Given the description of an element on the screen output the (x, y) to click on. 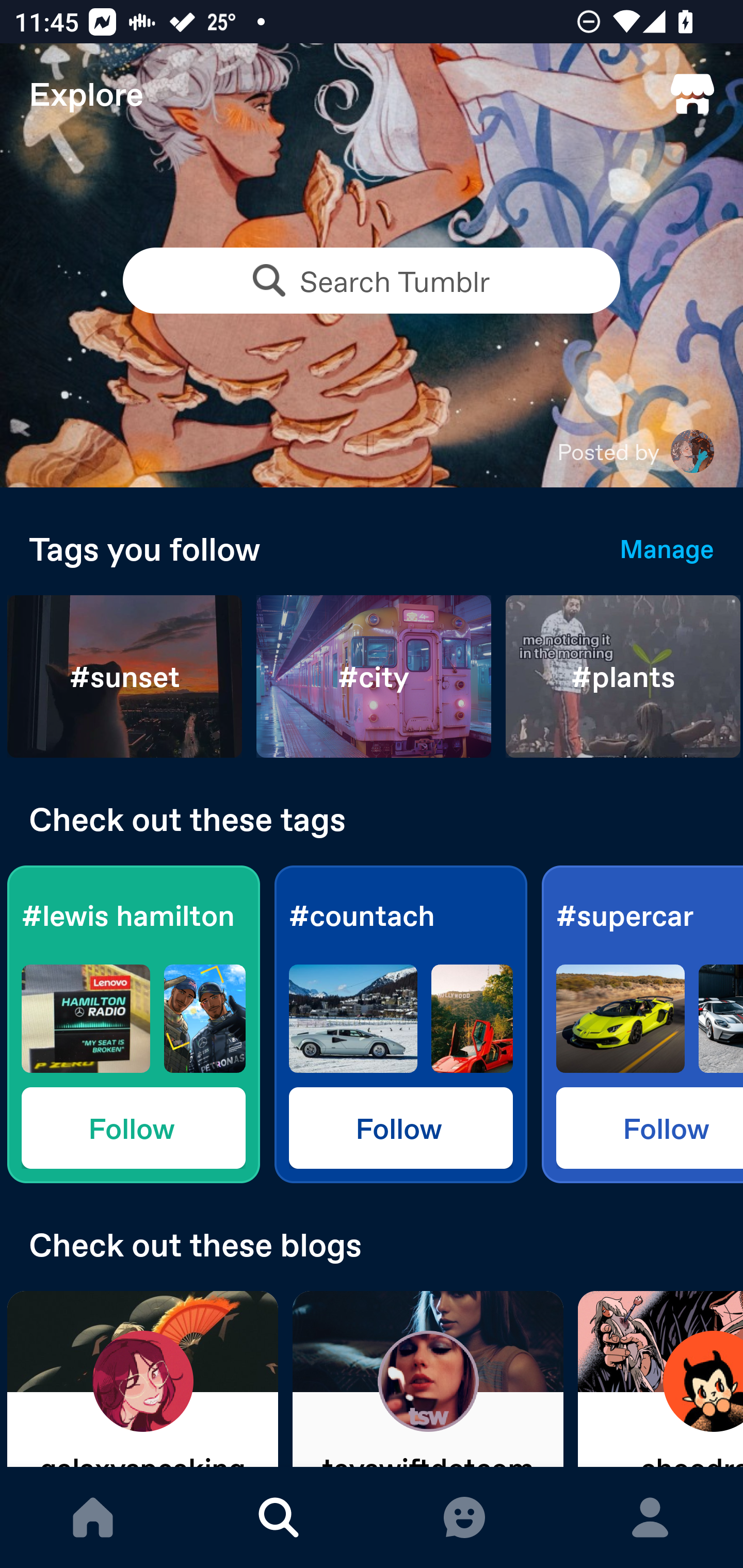
TumblrMart (692, 94)
Search Tumblr (371, 280)
Tags you follow (309, 547)
Manage (666, 547)
#sunset (124, 676)
#city (373, 676)
#plants (622, 676)
Check out these tags (371, 819)
#lewis hamilton Follow (133, 1024)
#countach Follow (400, 1024)
#supercar Follow (642, 1024)
Follow (133, 1127)
Follow (400, 1127)
Follow (649, 1127)
Check out these blogs (371, 1244)
galaxyspeaking (142, 1378)
tayswiftdotcom (427, 1378)
choodraws (660, 1378)
DASHBOARD (92, 1517)
EXPLORE (278, 1517)
MESSAGES (464, 1517)
ACCOUNT (650, 1517)
